Given the description of an element on the screen output the (x, y) to click on. 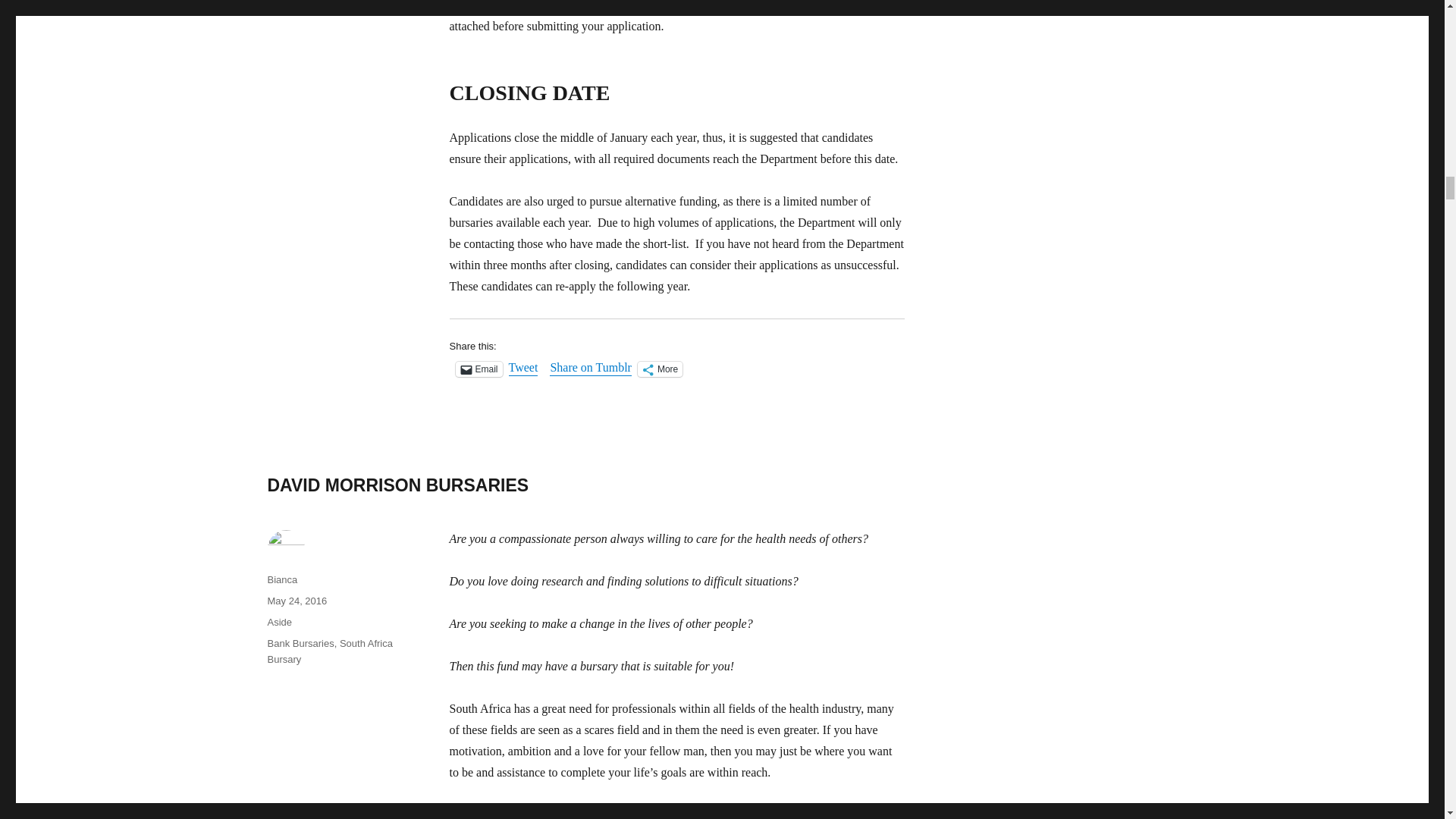
Click to email a link to a friend (478, 368)
DAVID MORRISON BURSARIES (397, 485)
Share on Tumblr (590, 368)
Share on Tumblr (590, 368)
Tweet (523, 368)
Email (478, 368)
More (659, 368)
